Given the description of an element on the screen output the (x, y) to click on. 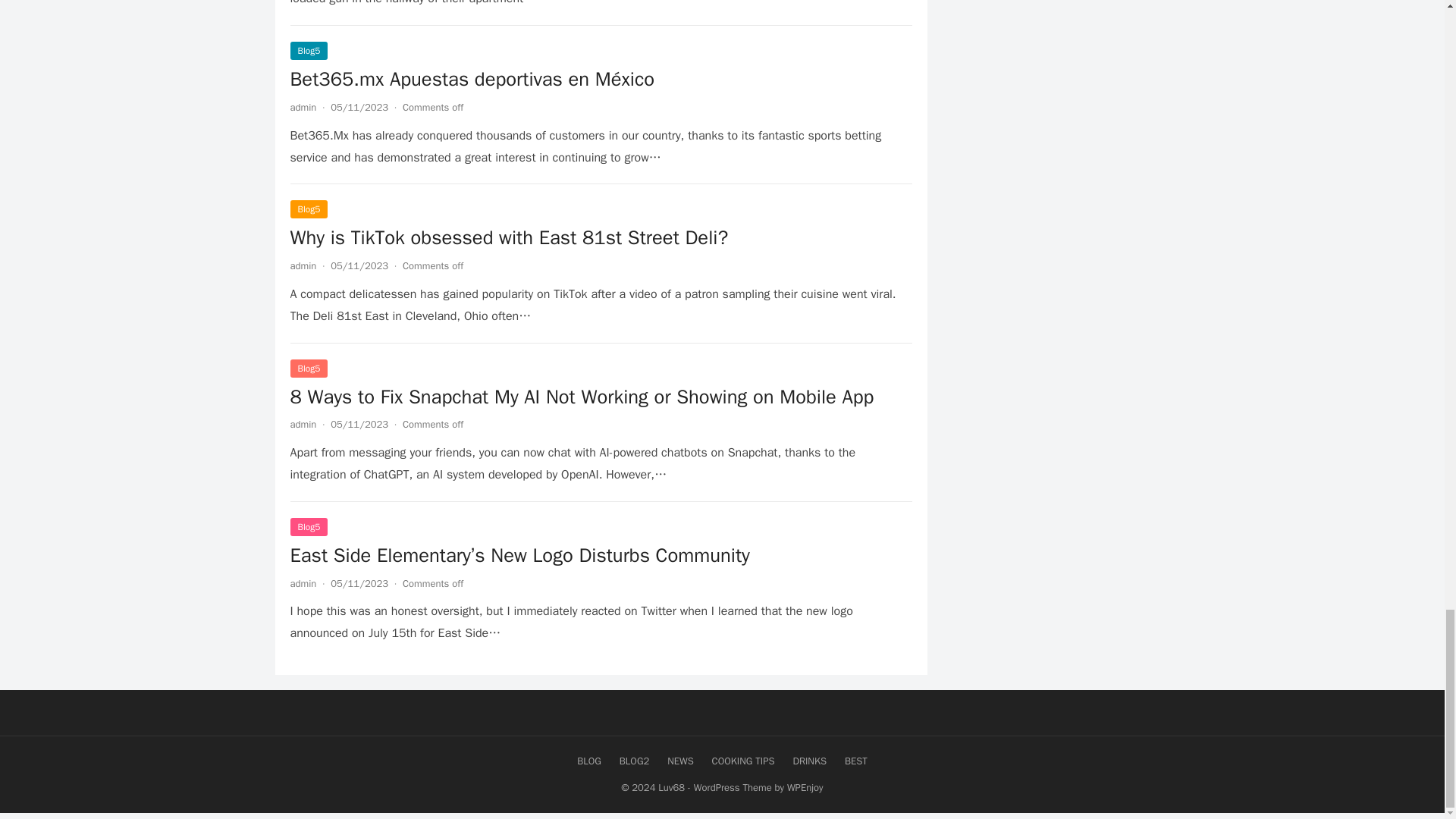
admin (302, 106)
admin (302, 265)
Blog5 (308, 208)
Posts by admin (302, 106)
Posts by admin (302, 265)
Posts by admin (302, 583)
Posts by admin (302, 423)
Blog5 (308, 50)
Blog5 (308, 367)
admin (302, 423)
Why is TikTok obsessed with East 81st Street Deli? (508, 237)
